Given the description of an element on the screen output the (x, y) to click on. 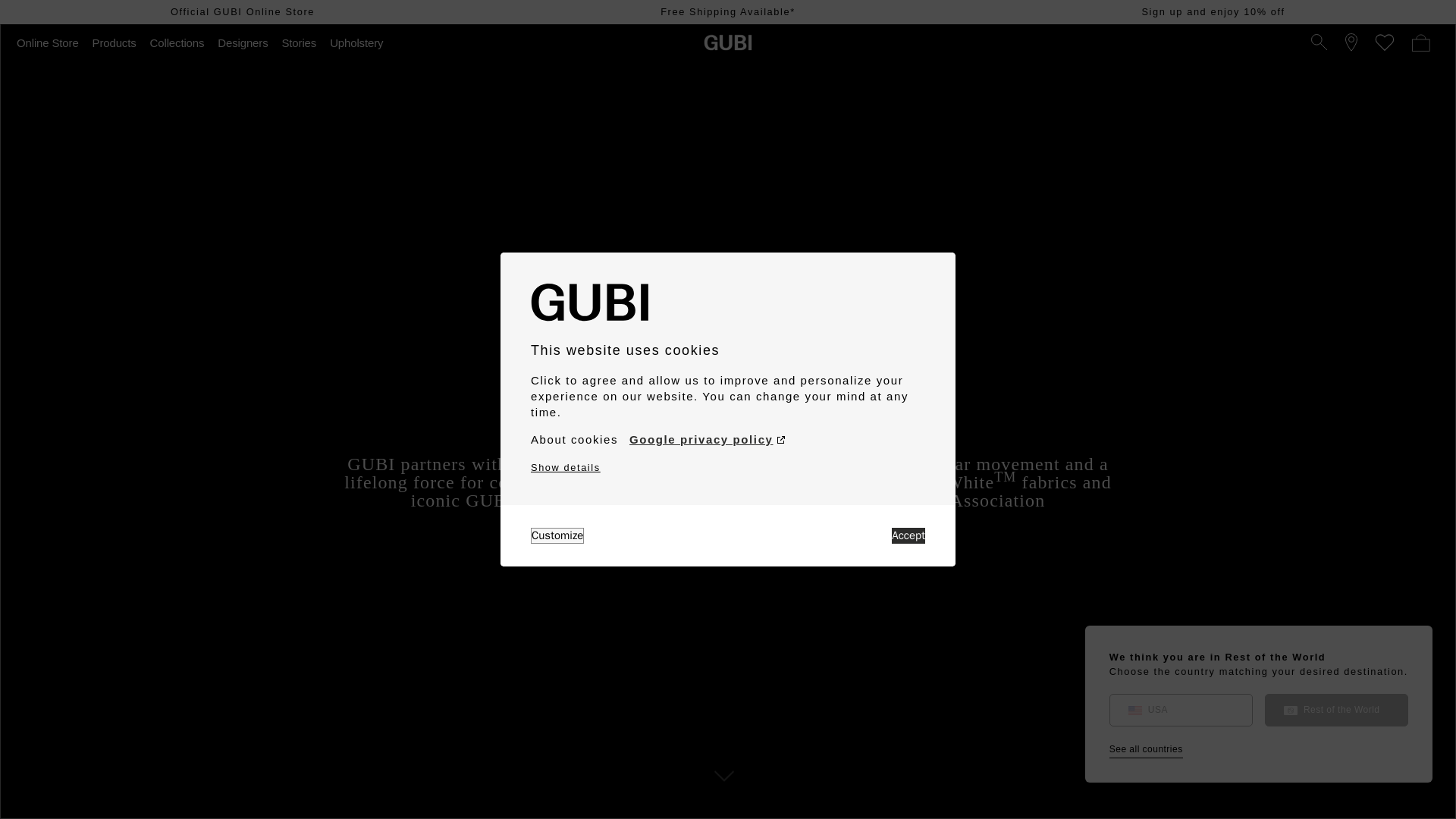
Show details (565, 467)
Google privacy policy (707, 439)
About cookies (574, 439)
